Given the description of an element on the screen output the (x, y) to click on. 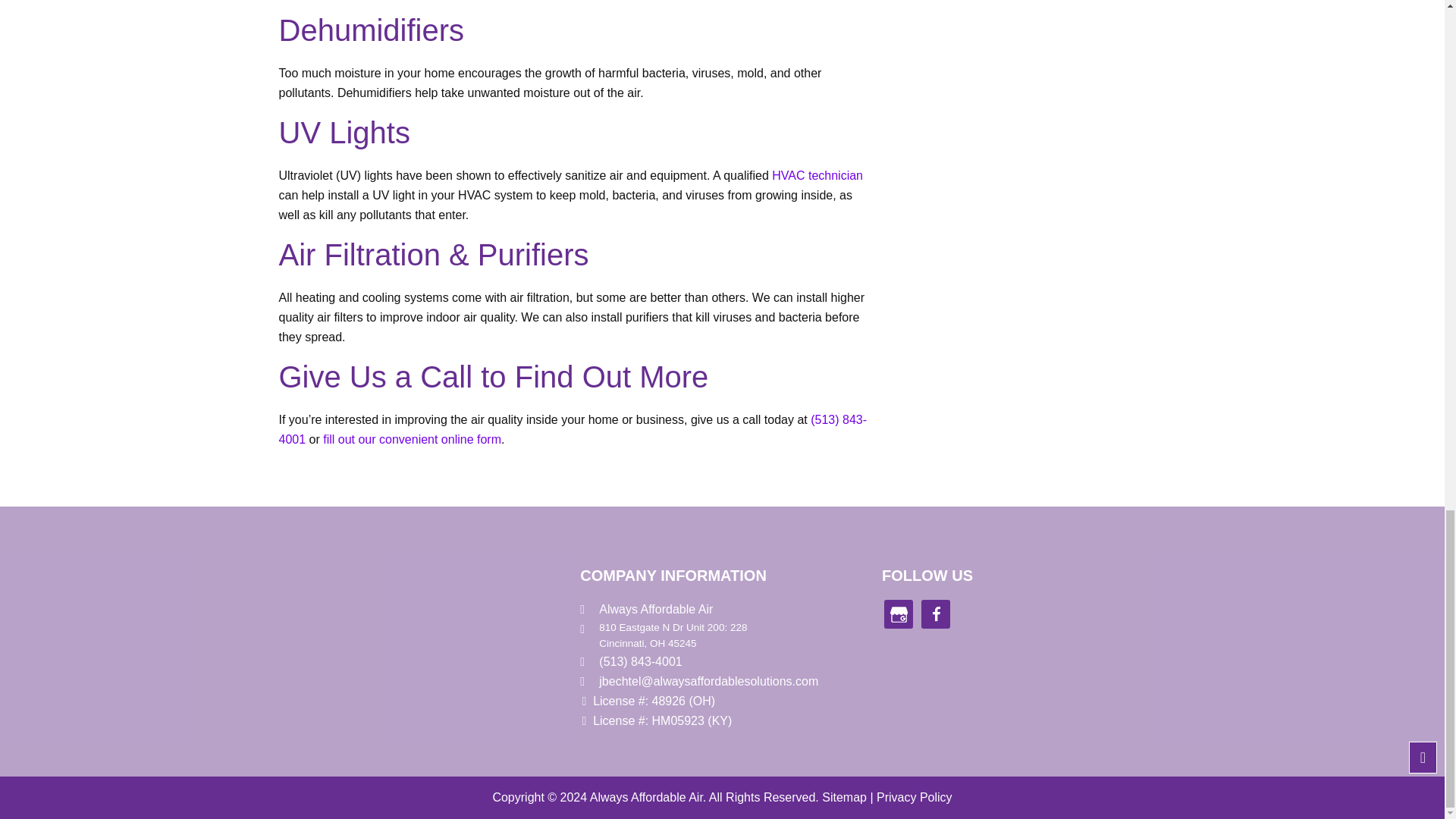
Facebook (935, 613)
Google My Business (897, 613)
Always Affordable Air (311, 584)
